Given the description of an element on the screen output the (x, y) to click on. 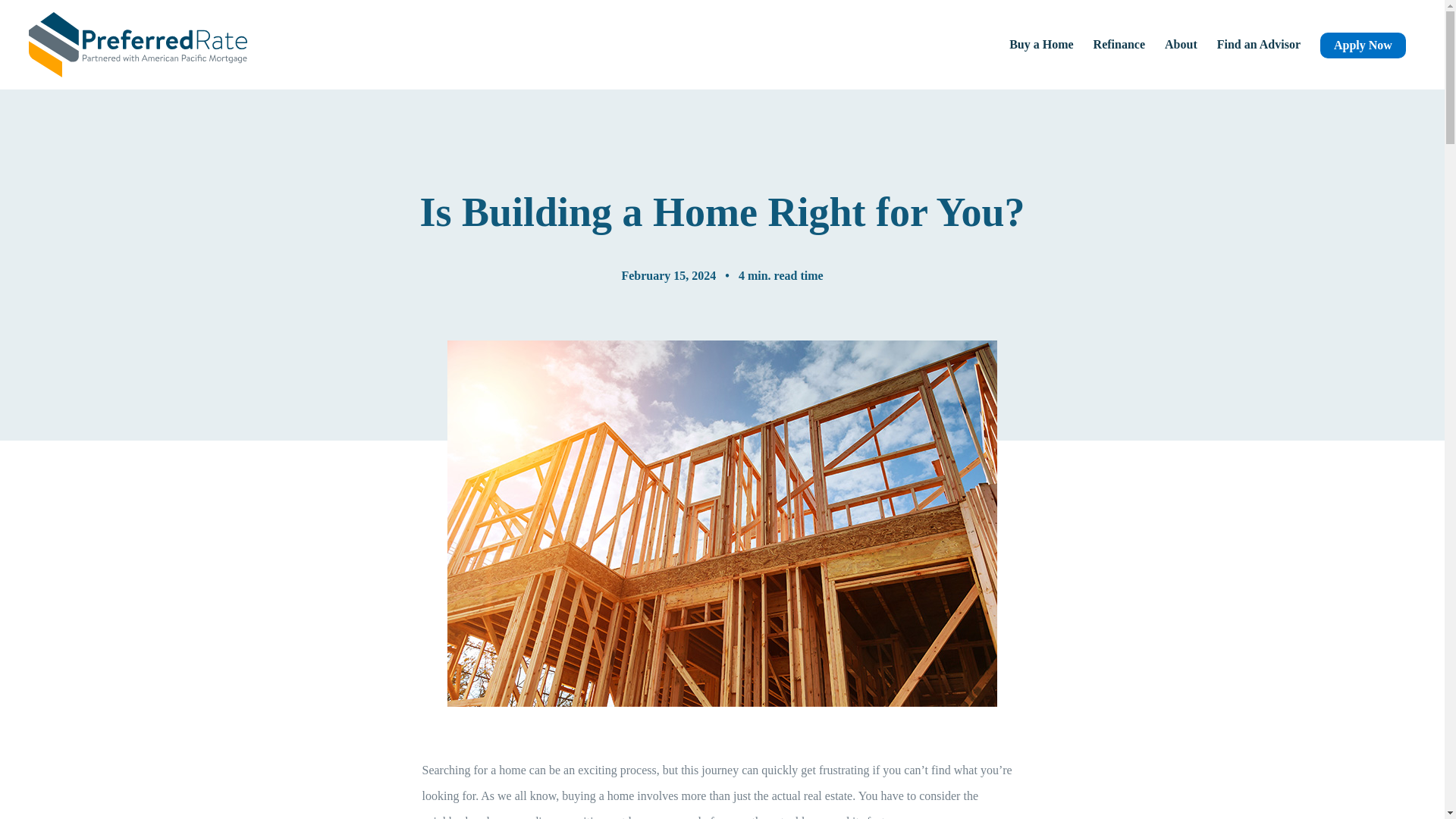
Buy a Home (1040, 44)
Apply Now (1362, 44)
Find an Advisor (1258, 44)
